Given the description of an element on the screen output the (x, y) to click on. 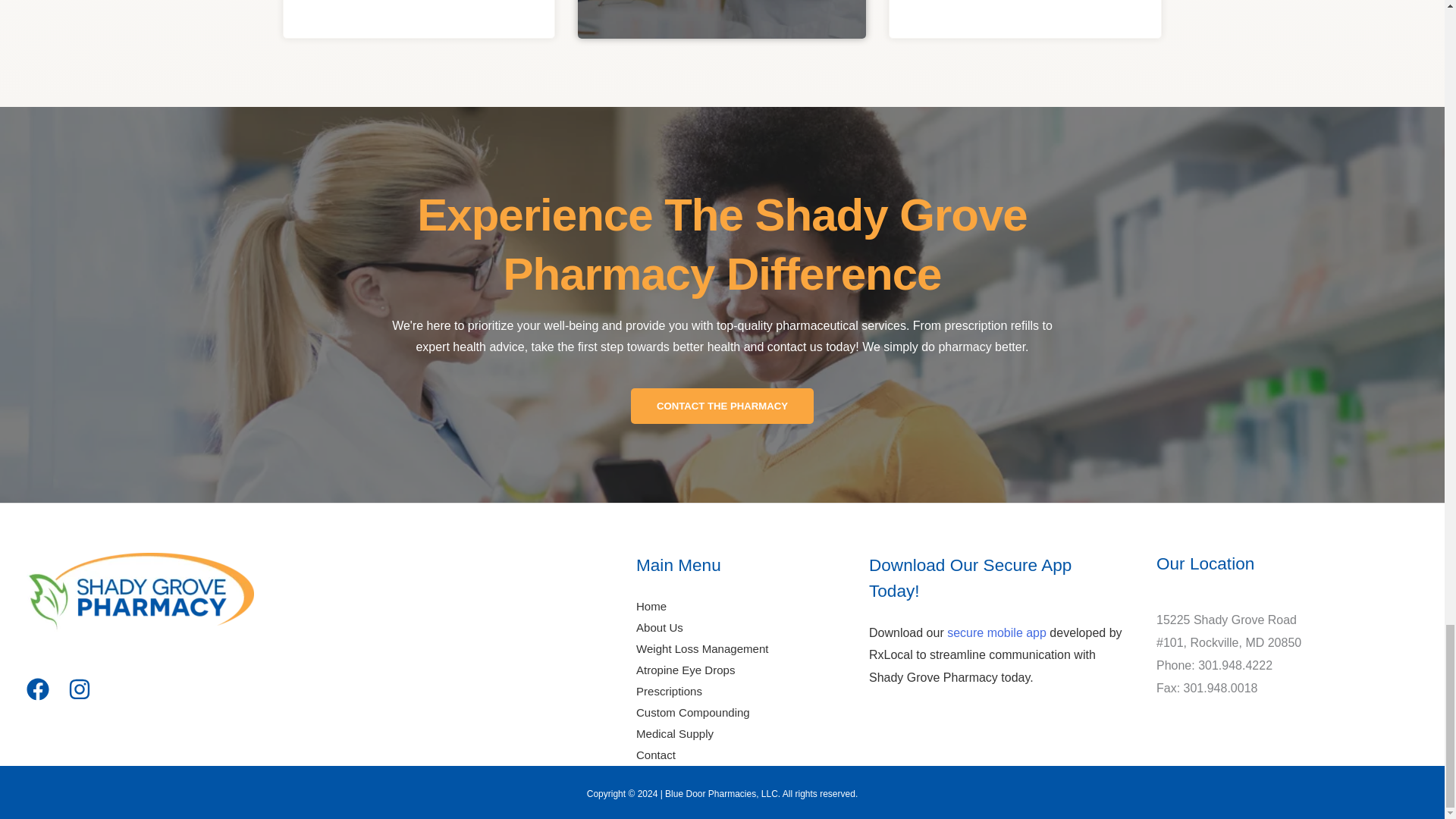
Medical Supply (674, 733)
About Us (659, 626)
Weight Loss Management (702, 648)
Prescriptions (668, 690)
Atropine Eye Drops (685, 669)
CONTACT THE PHARMACY (721, 406)
Custom Compounding (692, 712)
Home (651, 605)
